Given the description of an element on the screen output the (x, y) to click on. 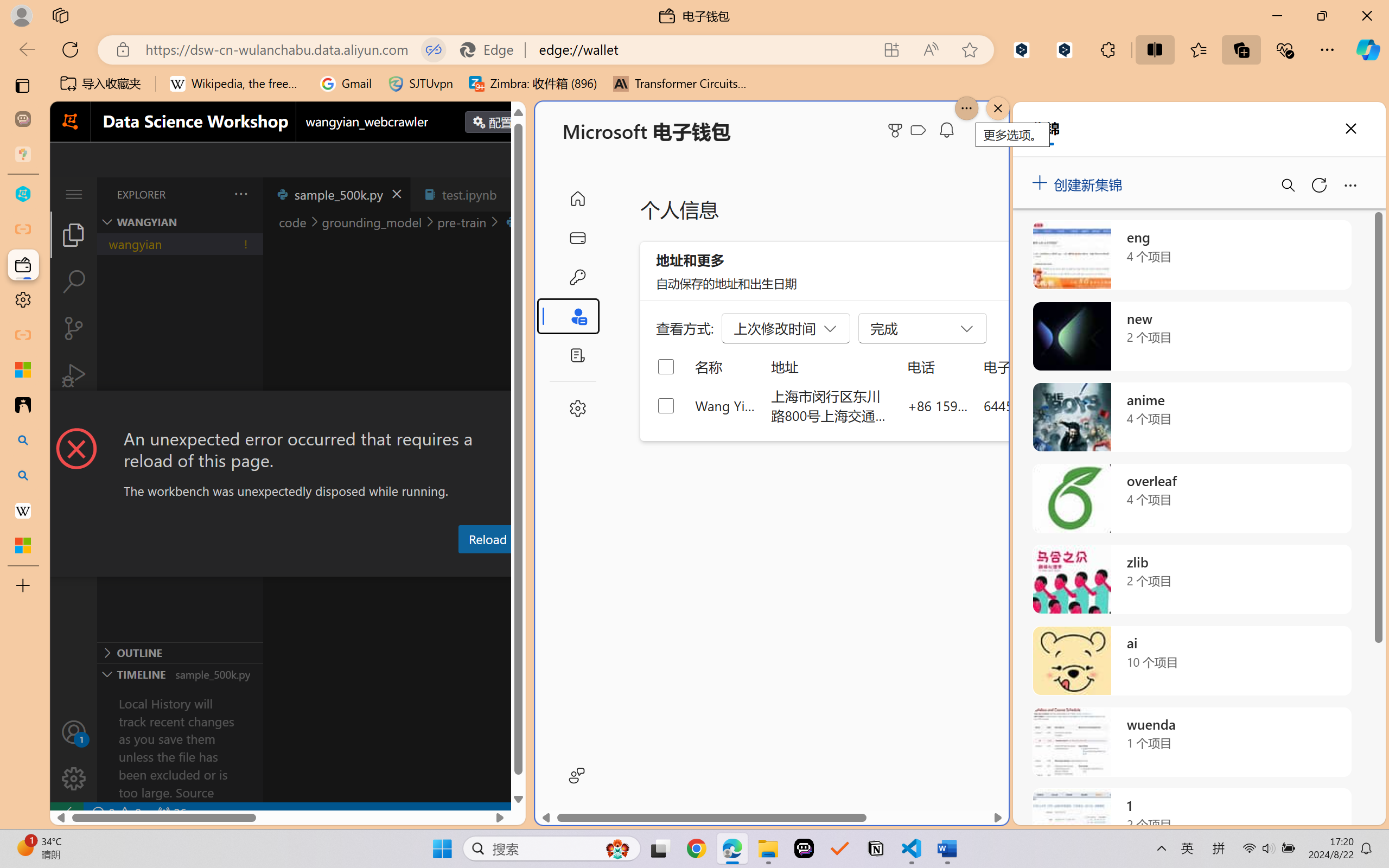
Manage (73, 755)
Manage (73, 778)
Explorer (Ctrl+Shift+E) (73, 234)
Microsoft Cashback (920, 130)
Edge (492, 49)
Extensions (Ctrl+Shift+X) (73, 422)
